Given the description of an element on the screen output the (x, y) to click on. 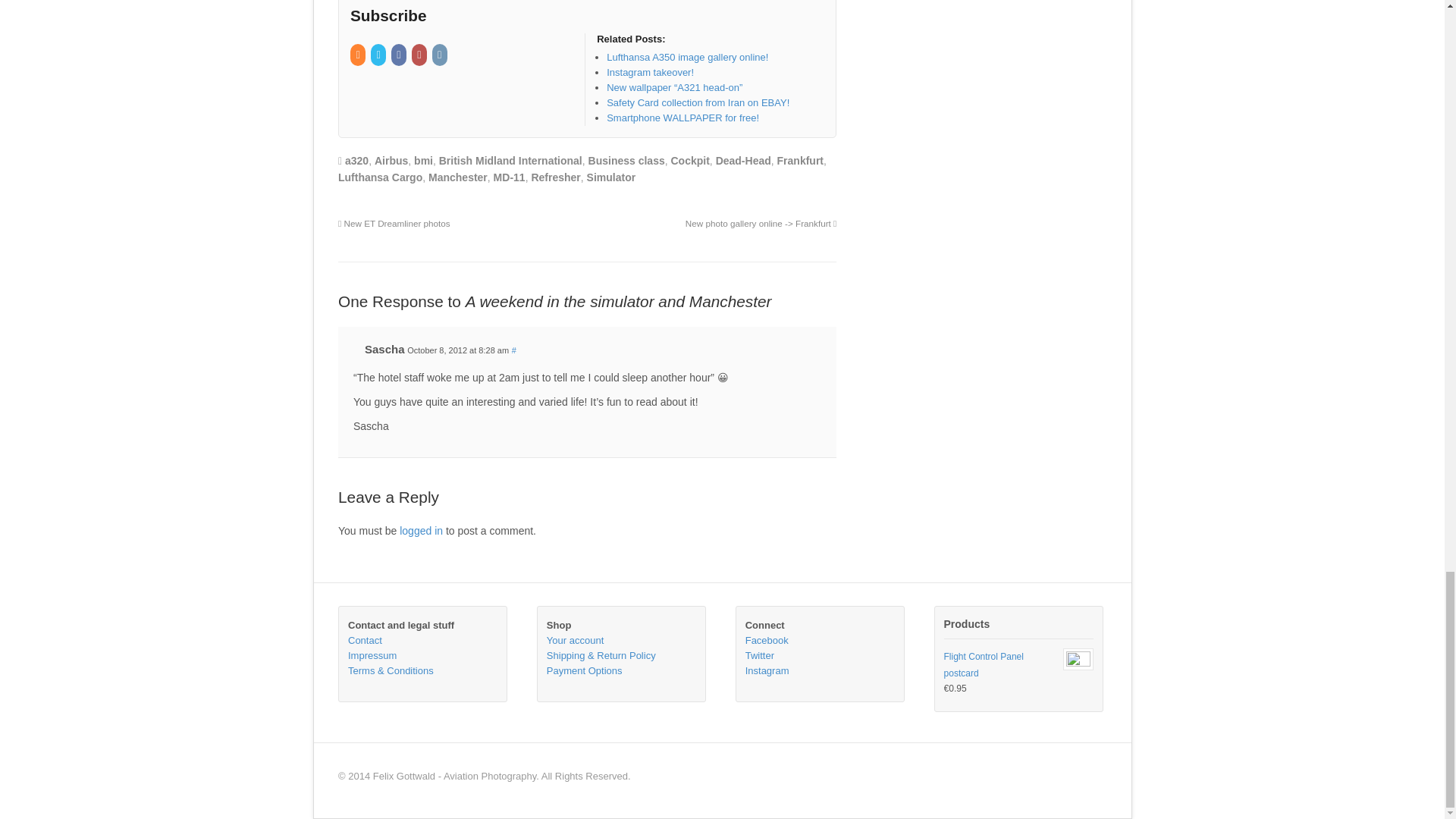
Safety Card collection from Iran on EBAY! (698, 102)
Lufthansa A350 image gallery online! (687, 57)
Facebook (400, 54)
Twitter (379, 54)
Instagram takeover! (650, 71)
Smartphone WALLPAPER for free! (682, 117)
RSS (359, 54)
a320 (356, 160)
